Given the description of an element on the screen output the (x, y) to click on. 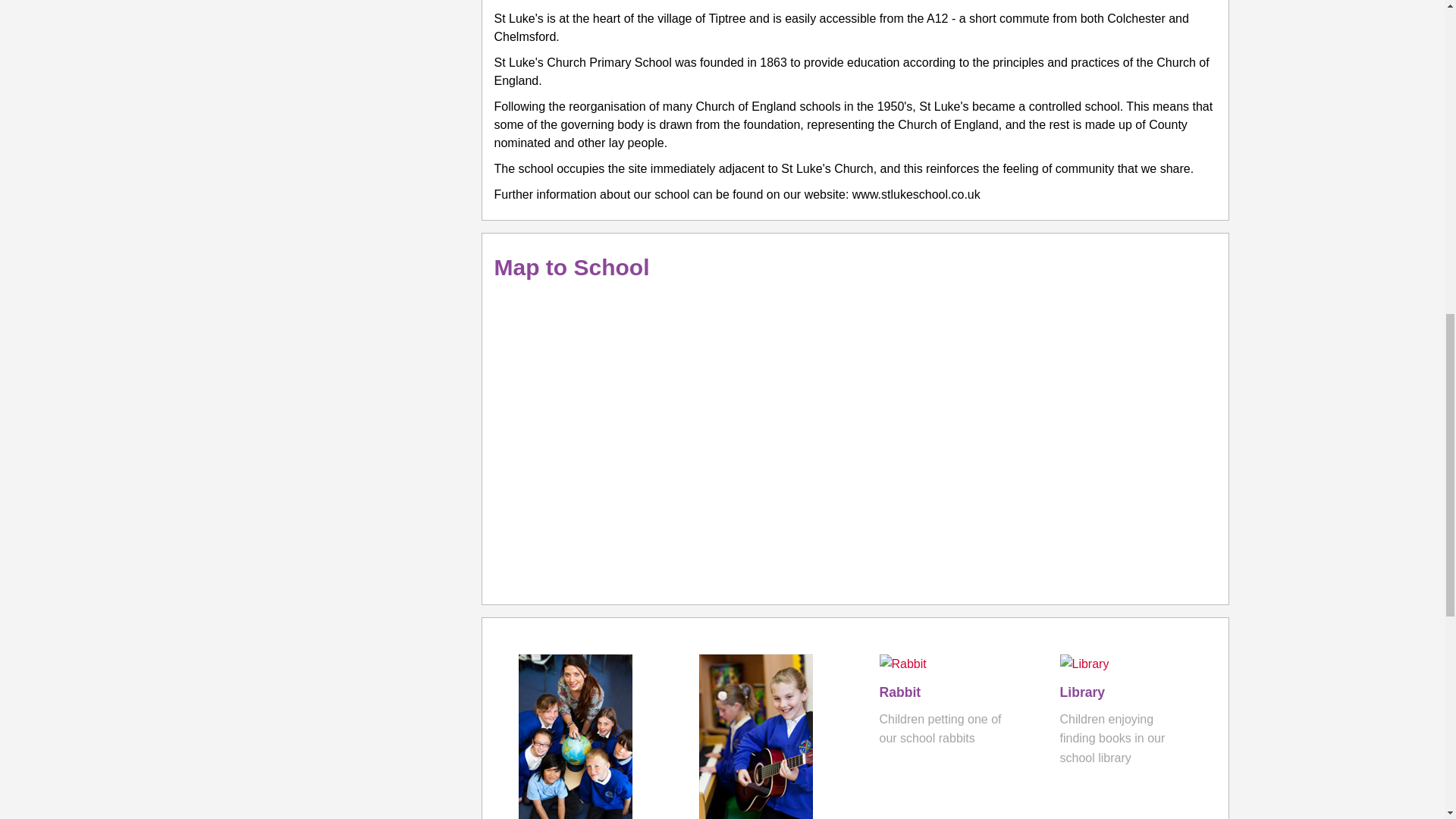
Rabbit Children petting one of our school rabbits (945, 701)
Music Children enjoying music lessons (764, 816)
